Given the description of an element on the screen output the (x, y) to click on. 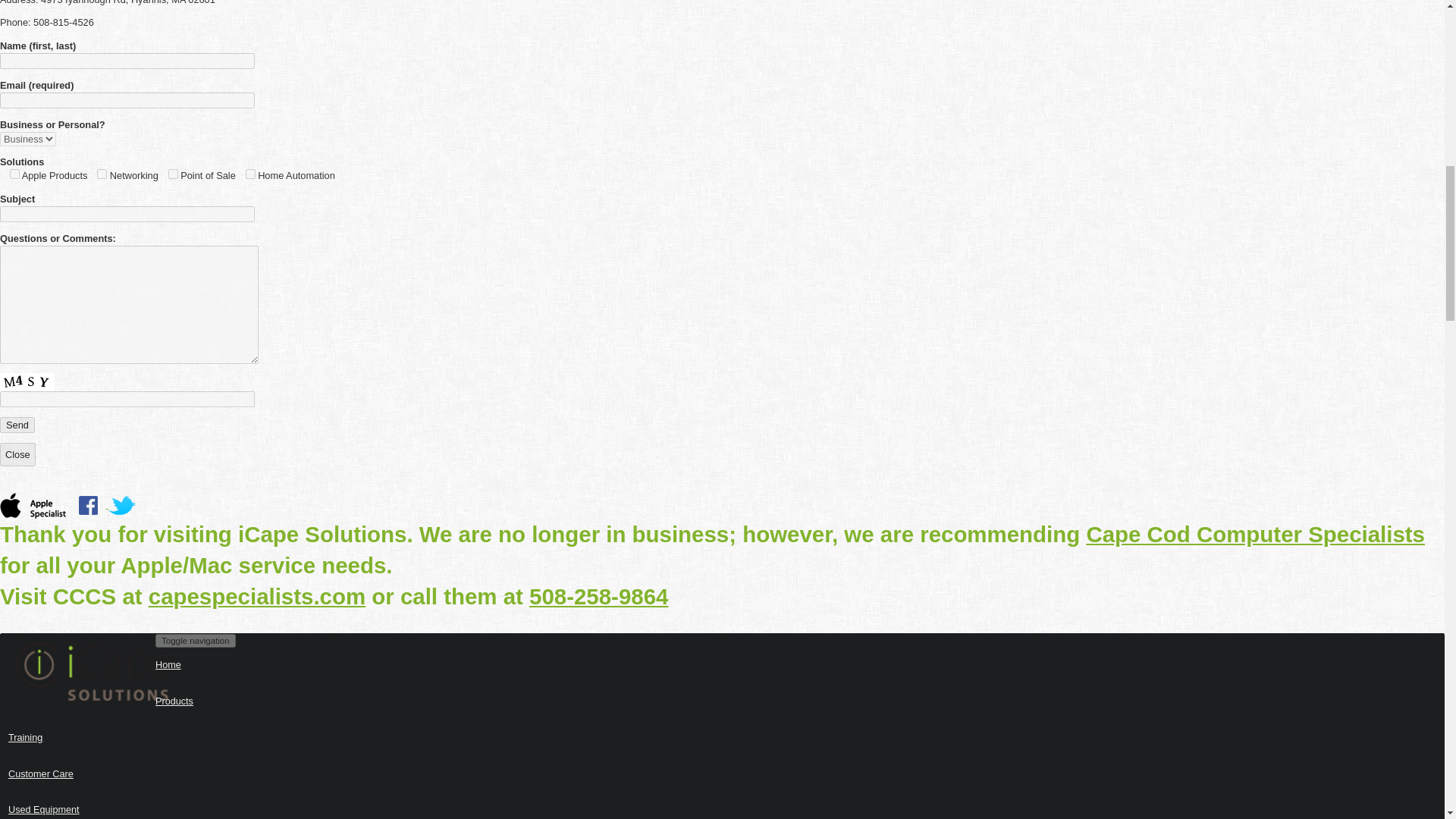
Send (17, 424)
Products (722, 701)
Training (722, 738)
Networking (101, 173)
Home Automation (251, 173)
capespecialists.com (256, 596)
Send (17, 424)
Home (722, 665)
Close (17, 454)
508-258-9864 (598, 596)
